Given the description of an element on the screen output the (x, y) to click on. 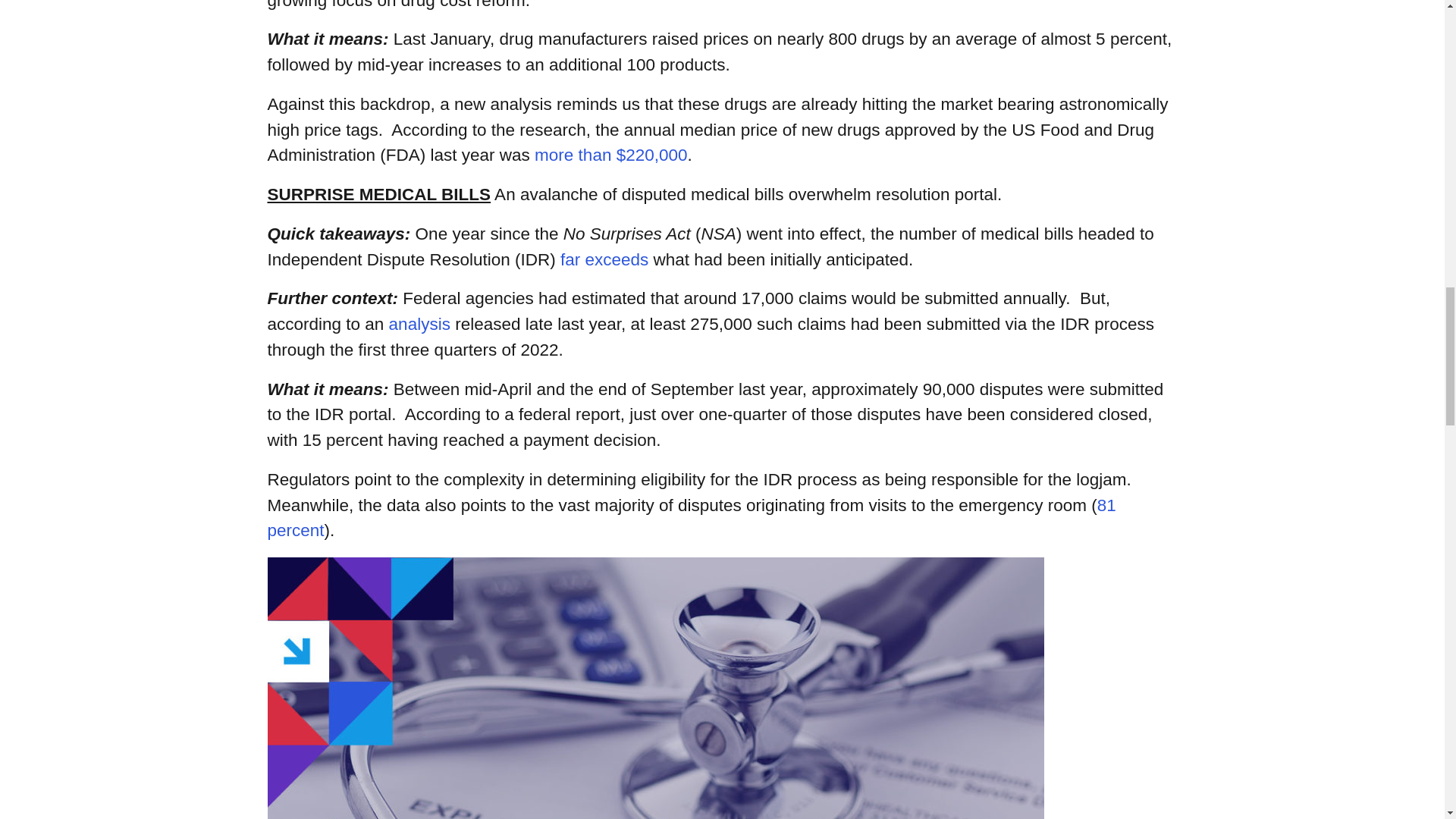
far exceeds (603, 259)
analysis (418, 323)
81 percent (690, 518)
